Given the description of an element on the screen output the (x, y) to click on. 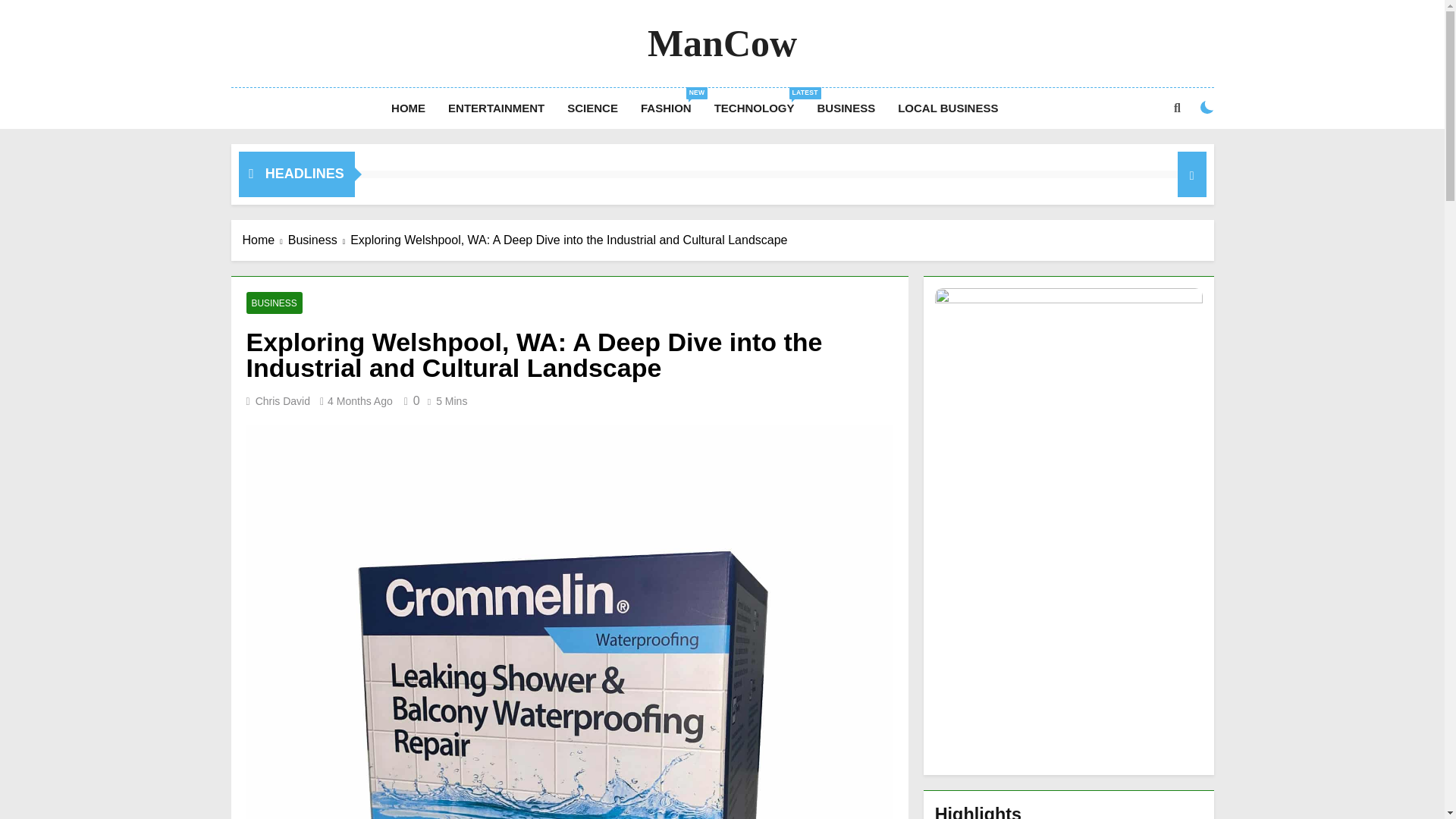
SCIENCE (592, 107)
Home (265, 239)
on (754, 107)
ENTERTAINMENT (1206, 107)
0 (496, 107)
BUSINESS (409, 400)
BUSINESS (845, 107)
4 Months Ago (273, 302)
Business (665, 107)
LOCAL BUSINESS (360, 400)
ManCow (319, 239)
Chris David (947, 107)
HOME (721, 43)
